Given the description of an element on the screen output the (x, y) to click on. 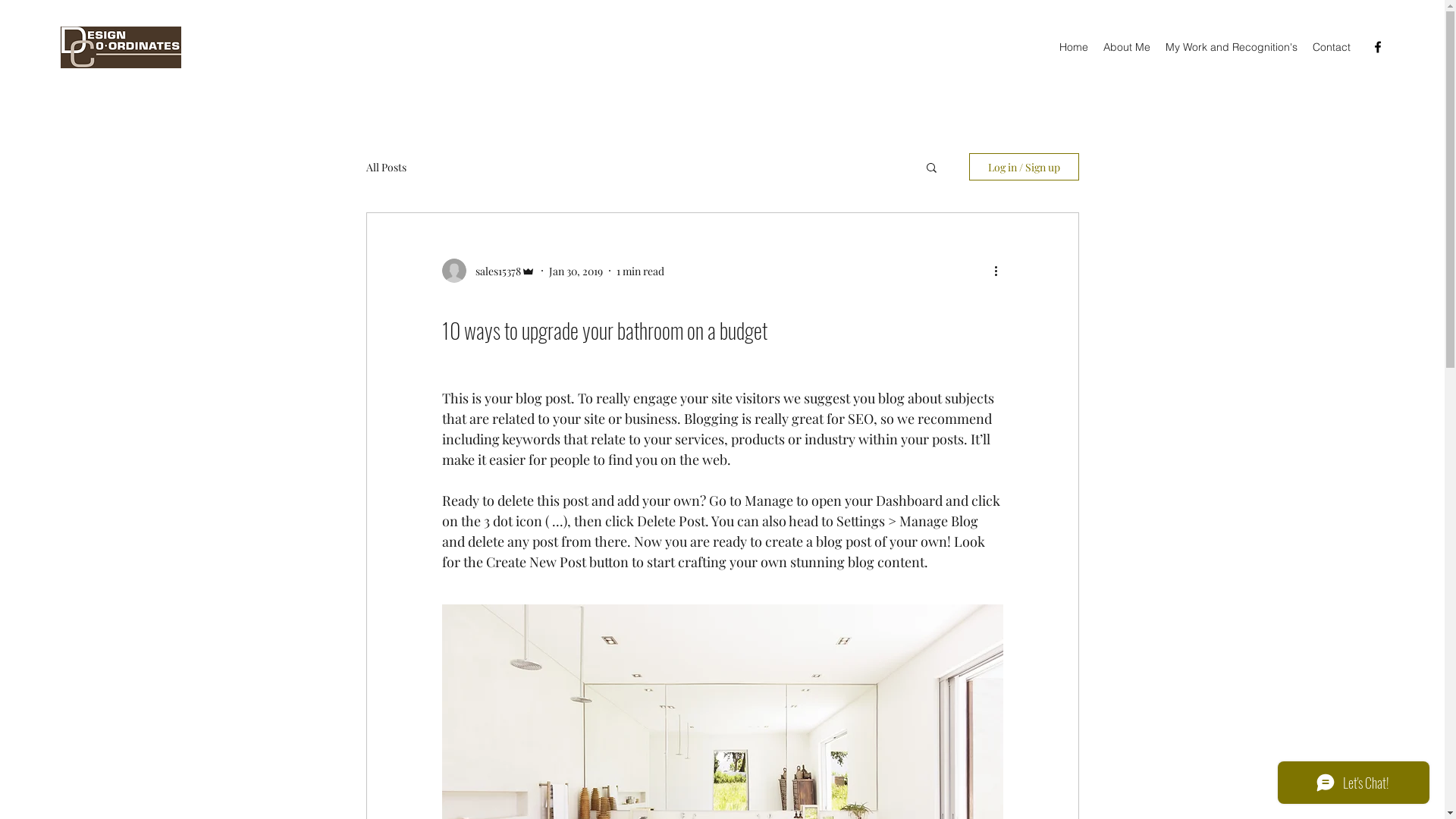
Home Element type: text (1073, 46)
My Work and Recognition's Element type: text (1231, 46)
All Posts Element type: text (385, 166)
Contact Element type: text (1331, 46)
About Me Element type: text (1126, 46)
Log in / Sign up Element type: text (1024, 166)
